Given the description of an element on the screen output the (x, y) to click on. 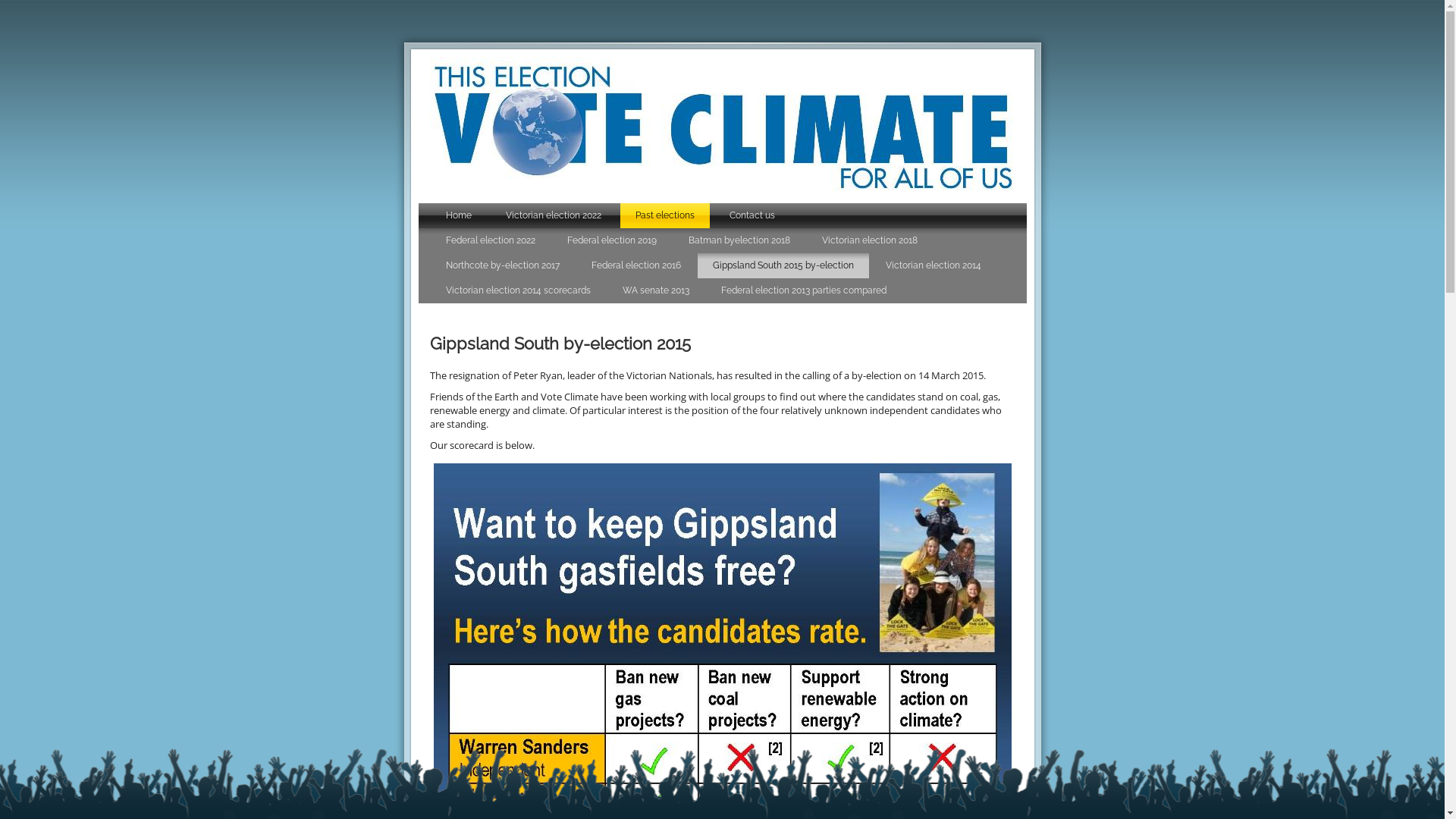
Federal election 2022 Element type: text (490, 240)
Past elections Element type: text (664, 215)
Home Element type: text (458, 215)
Federal election 2016 Element type: text (636, 265)
Gippsland South 2015 by-election Element type: text (783, 265)
Contact us Element type: text (752, 215)
Federal election 2019 Element type: text (611, 240)
Northcote by-election 2017 Element type: text (502, 265)
Victorian election 2014 scorecards Element type: text (517, 290)
Victorian election 2018 Element type: text (869, 240)
Victorian election 2014 Element type: text (933, 265)
Federal election 2013 parties compared Element type: text (802, 290)
Victorian election 2022 Element type: text (553, 215)
Batman byelection 2018 Element type: text (739, 240)
WA senate 2013 Element type: text (654, 290)
